Given the description of an element on the screen output the (x, y) to click on. 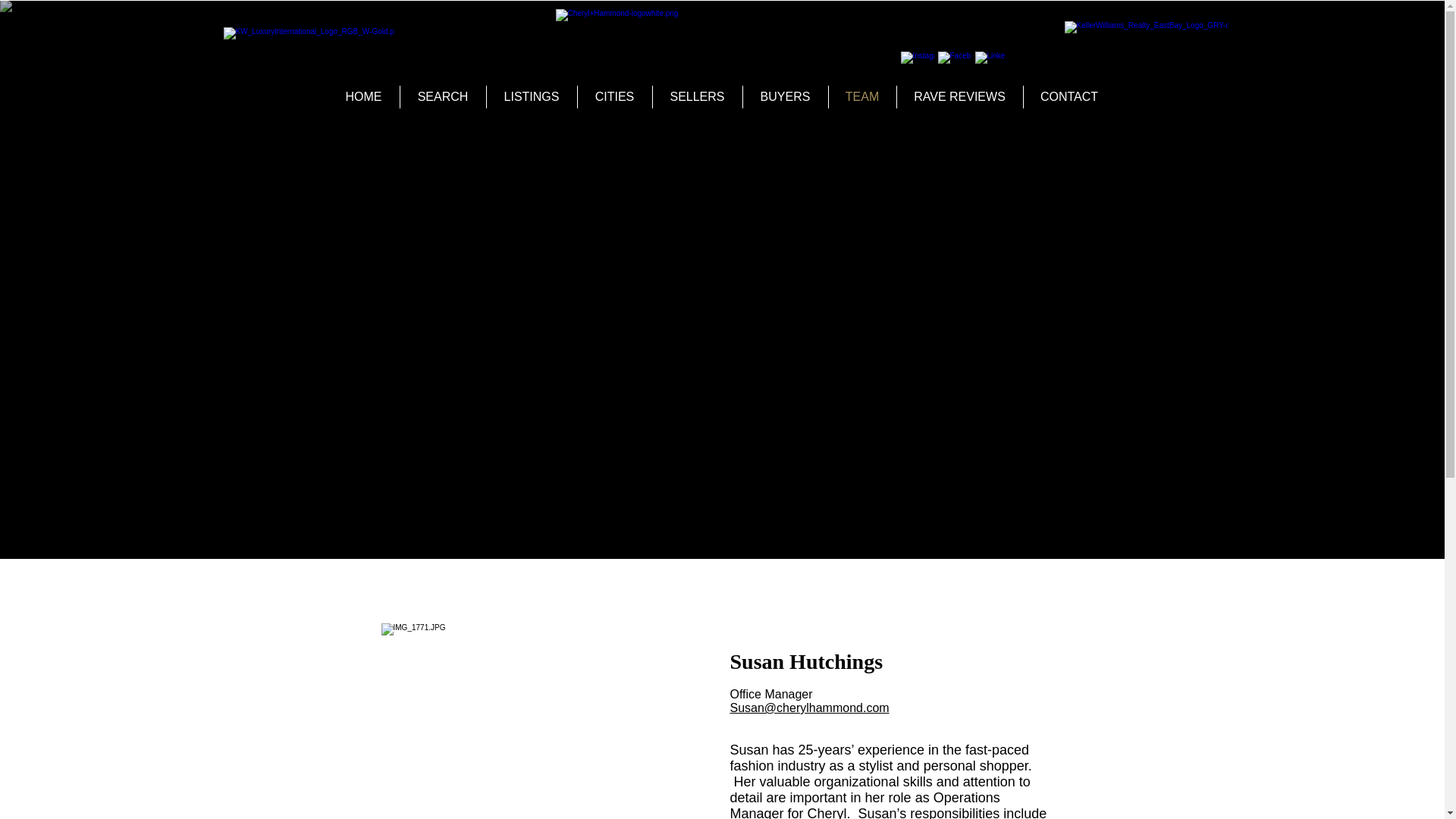
SEARCH (443, 96)
HOME (362, 96)
SELLERS (696, 96)
TEAM (861, 96)
CONTACT (1069, 96)
BUYERS (785, 96)
RAVE REVIEWS (959, 96)
LISTINGS (531, 96)
